Given the description of an element on the screen output the (x, y) to click on. 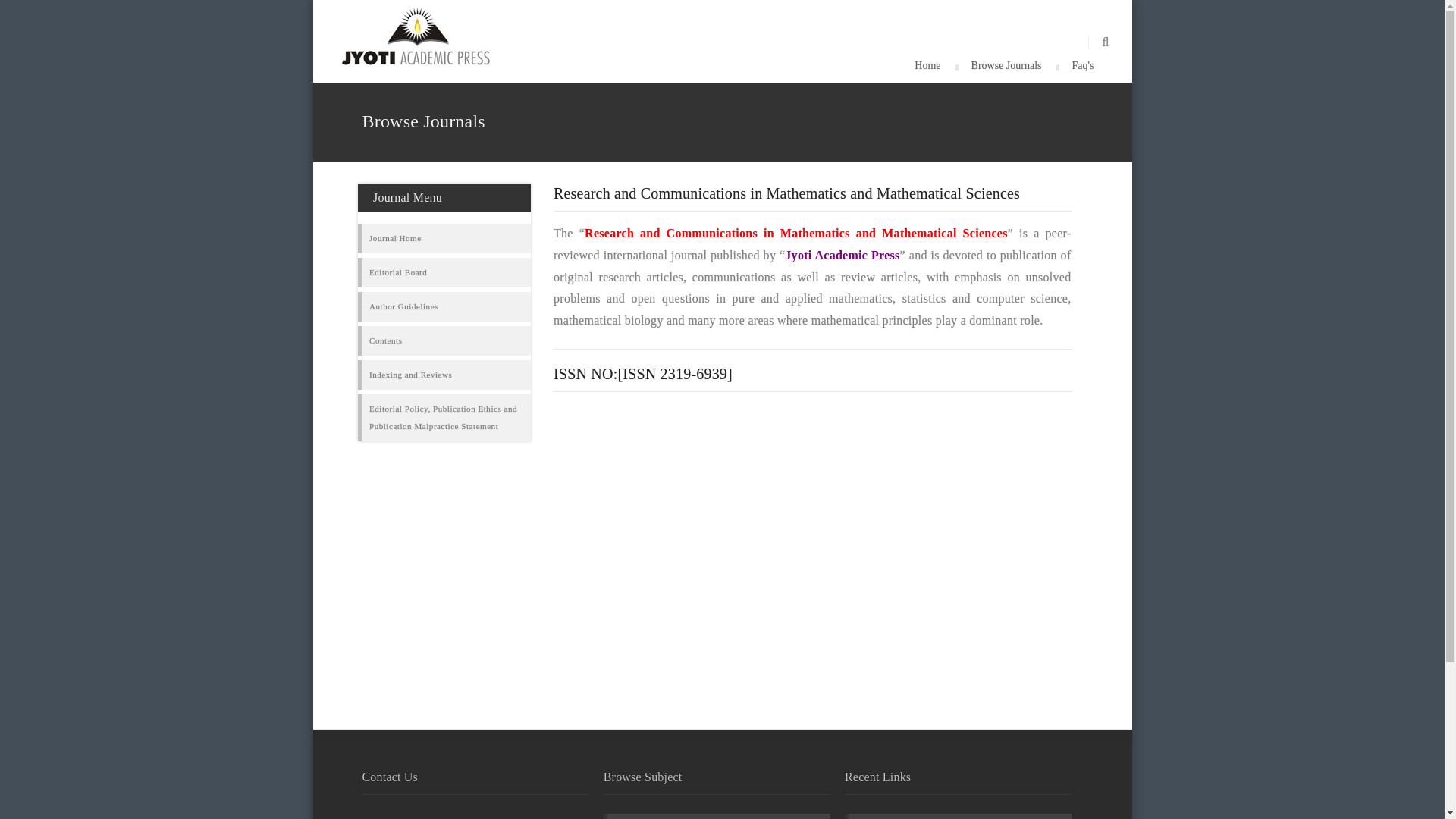
Contents (386, 340)
Faq's (1082, 66)
Browse Journals (1006, 66)
Home (927, 66)
Indexing and Reviews (410, 375)
Editorial Board (397, 272)
Journal Home (395, 238)
Author Guidelines (403, 306)
